Given the description of an element on the screen output the (x, y) to click on. 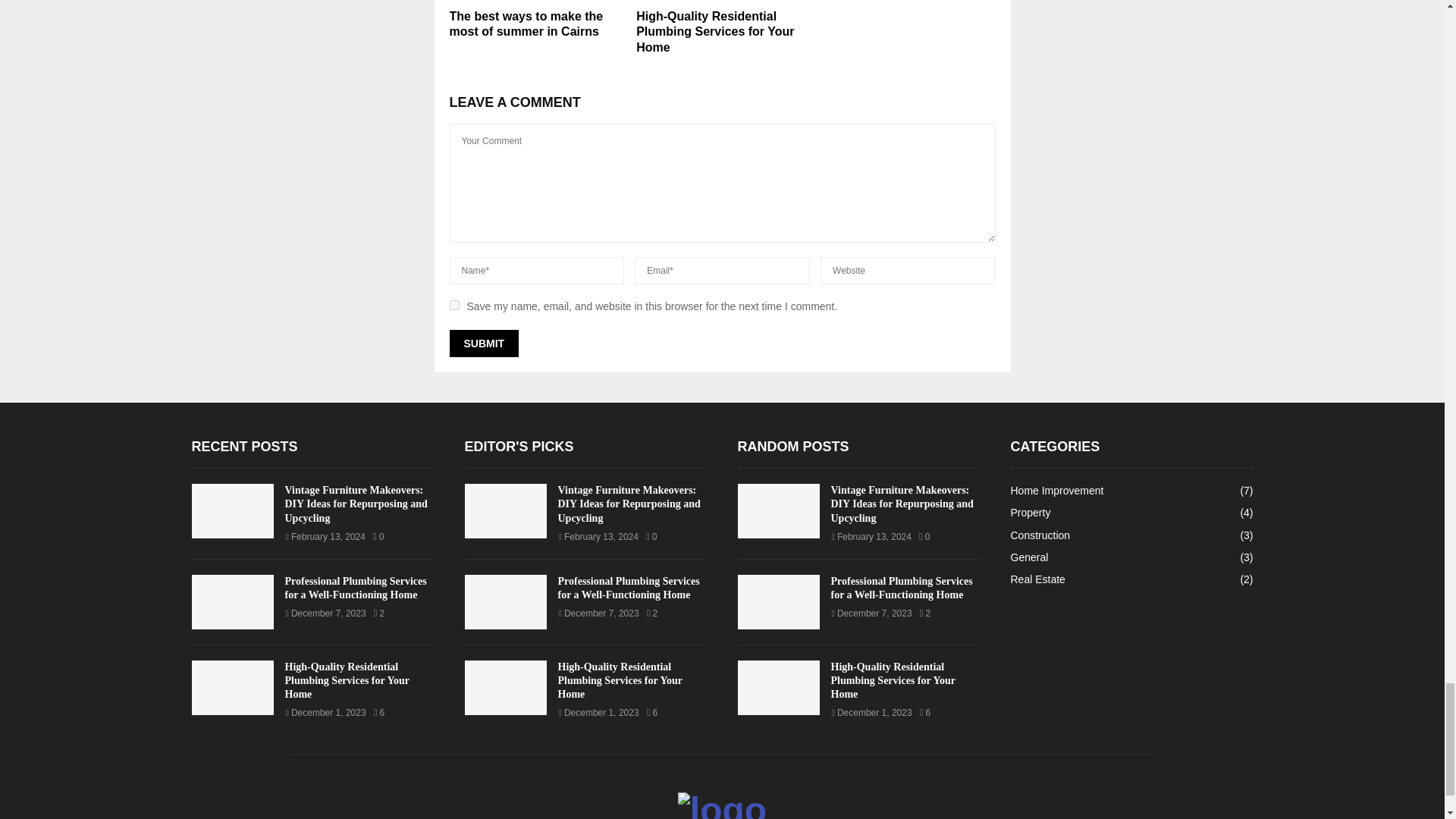
yes (453, 305)
Submit (483, 343)
